Given the description of an element on the screen output the (x, y) to click on. 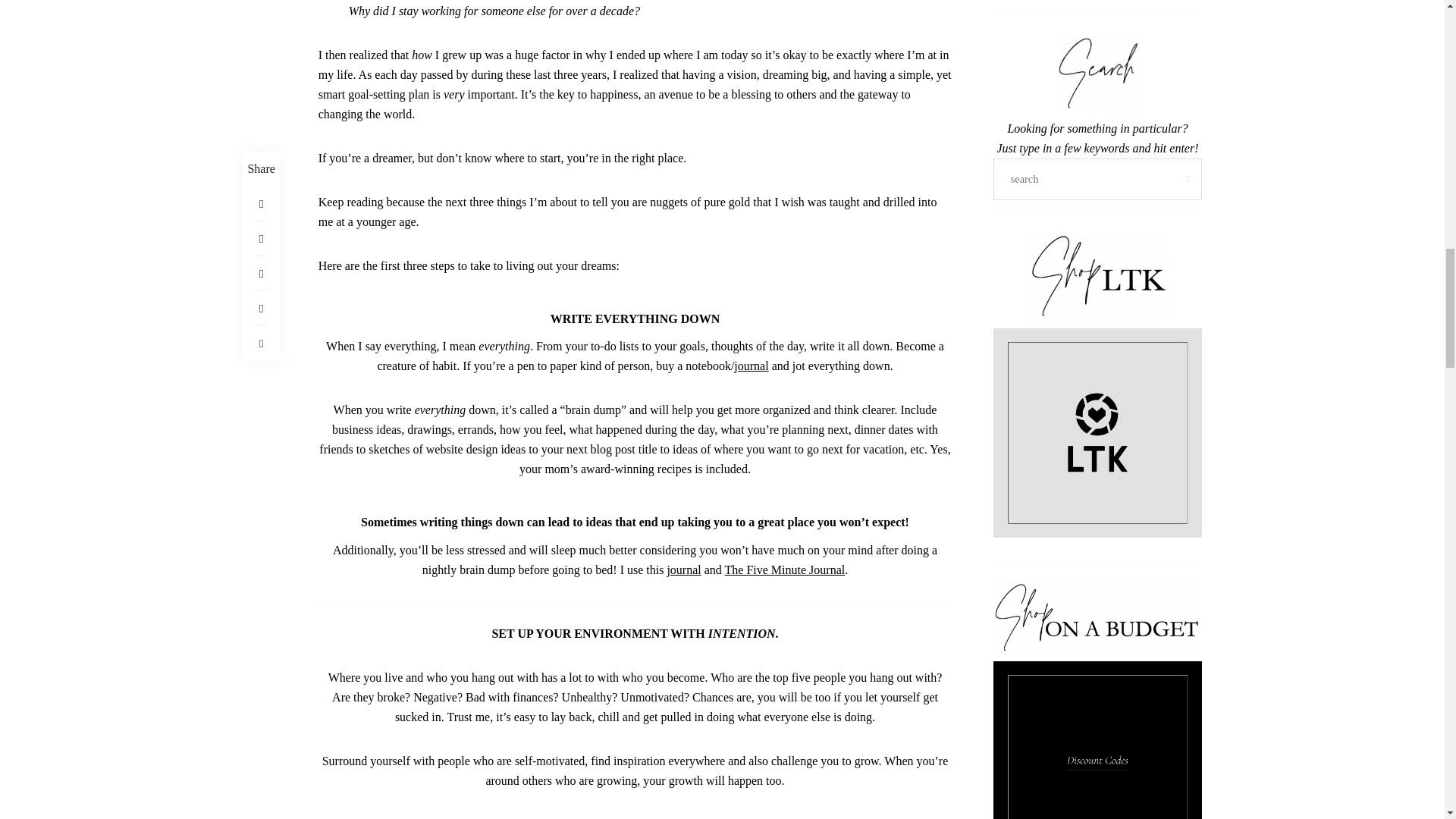
The Five Minute Journal (785, 569)
